Given the description of an element on the screen output the (x, y) to click on. 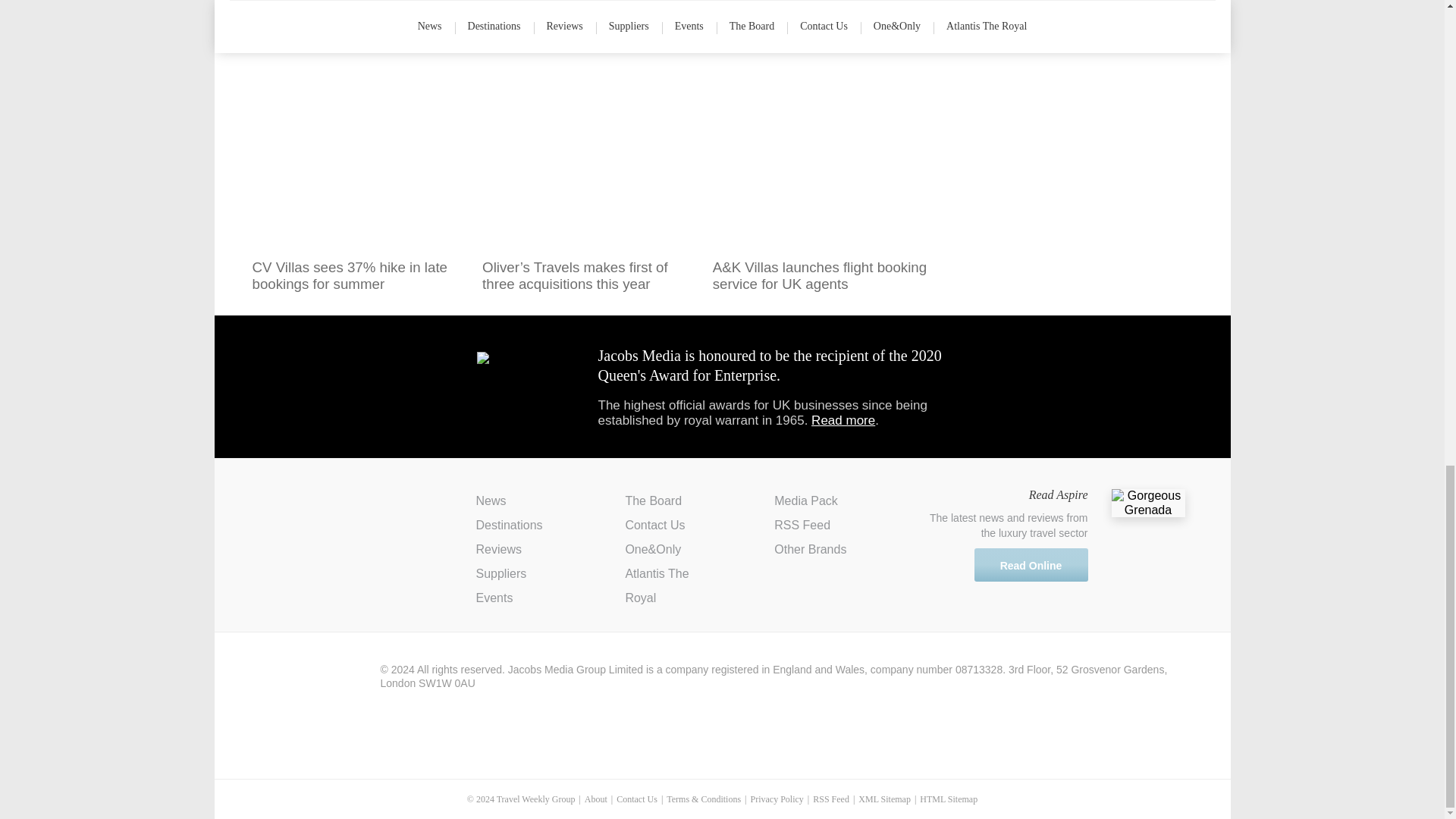
Read more (842, 420)
Destinations (509, 524)
Aspire - The Luxury Travel Club from Travel Weekly (322, 512)
Reviews (498, 549)
News (491, 500)
